Given the description of an element on the screen output the (x, y) to click on. 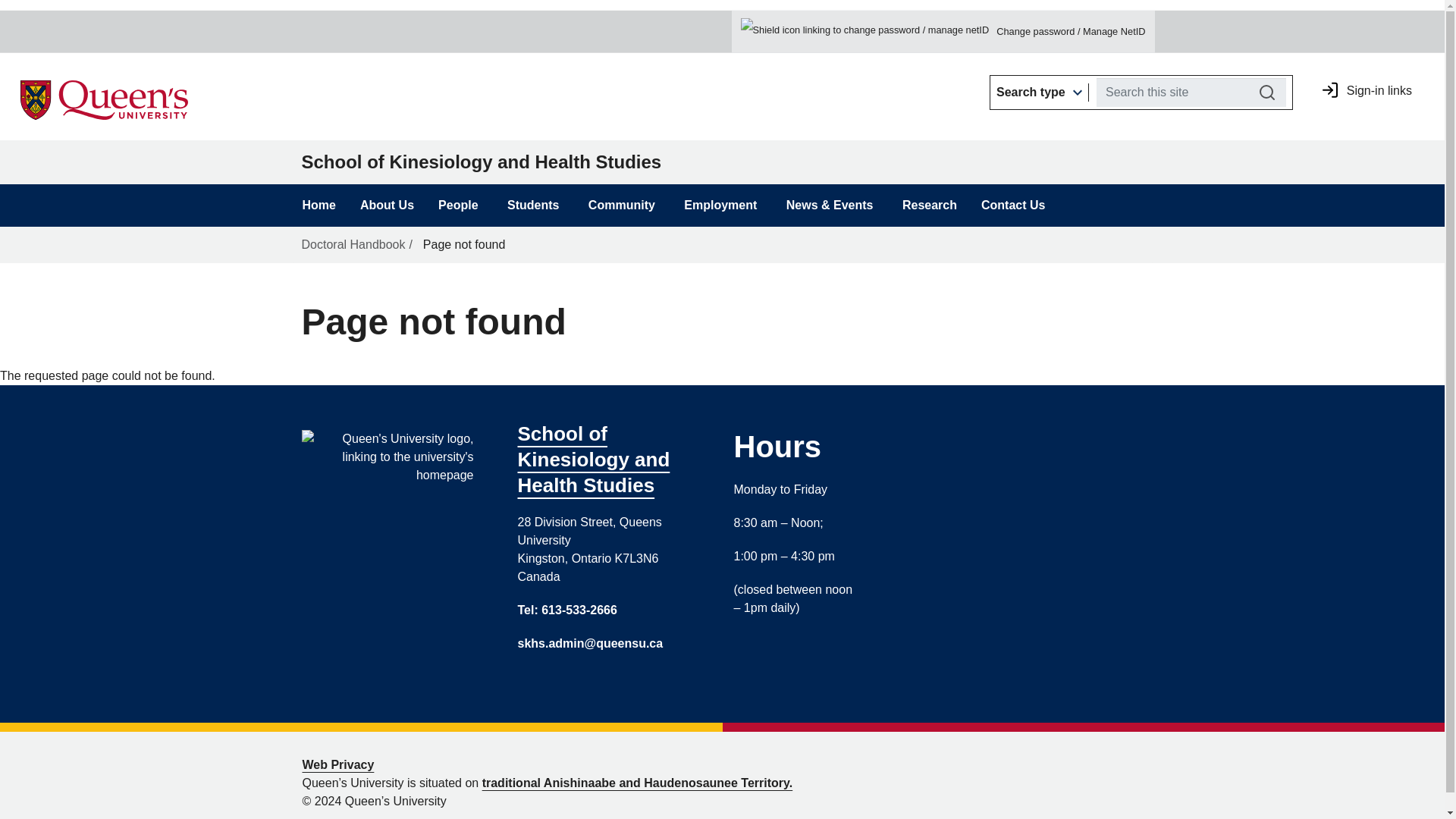
School of Kinesiology and Health Studies (287, 18)
Home (287, 18)
Home (68, 27)
